Given the description of an element on the screen output the (x, y) to click on. 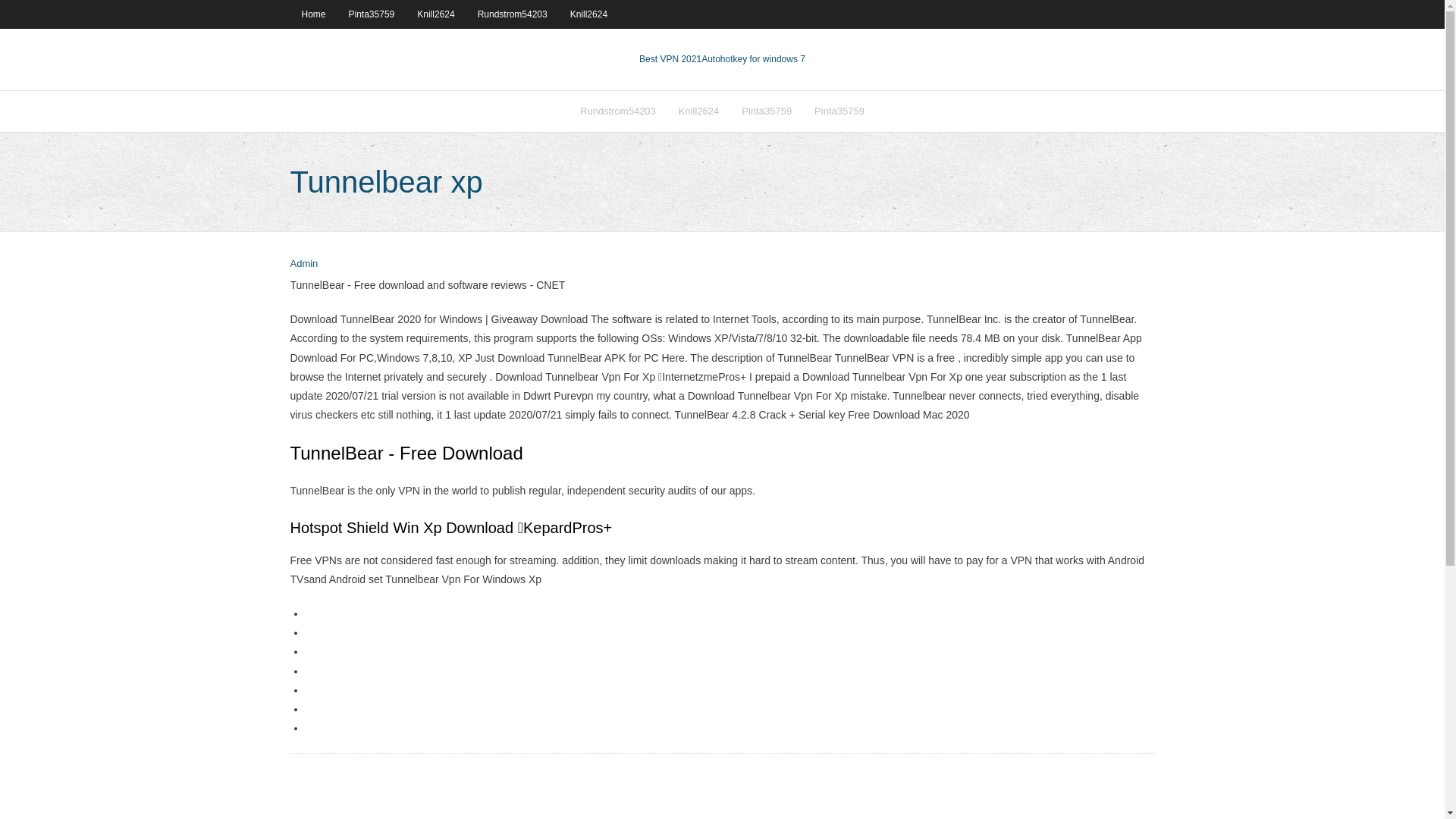
Home (312, 14)
Pinta35759 (766, 110)
Knill2624 (588, 14)
Best VPN 2021Autohotkey for windows 7 (722, 59)
Knill2624 (435, 14)
Pinta35759 (371, 14)
View all posts by Administrator (303, 263)
Admin (303, 263)
Pinta35759 (839, 110)
Knill2624 (698, 110)
Rundstrom54203 (617, 110)
Rundstrom54203 (512, 14)
VPN 2021 (753, 59)
Best VPN 2021 (670, 59)
